Given the description of an element on the screen output the (x, y) to click on. 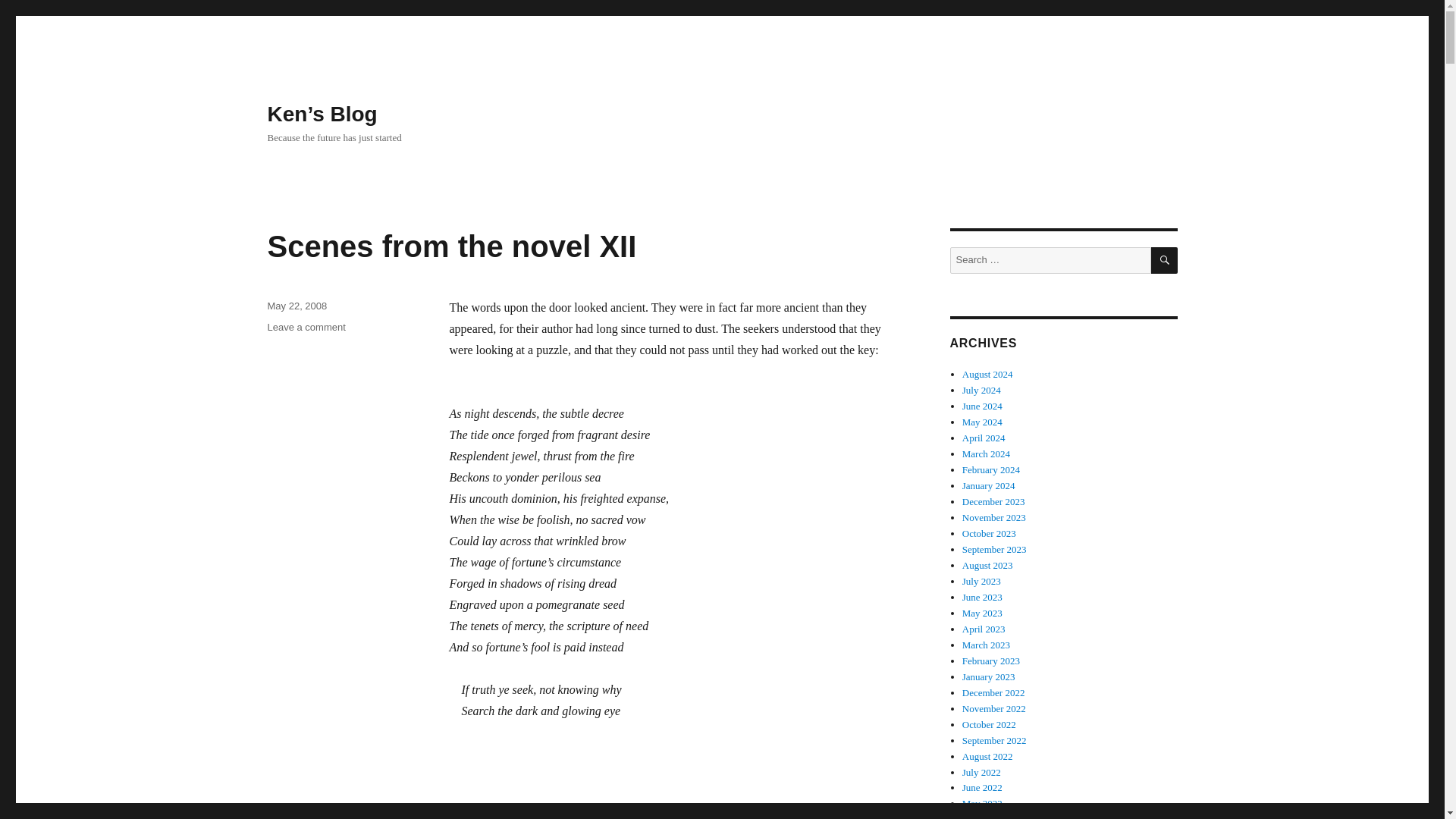
Mixed media (357, 813)
May 22, 2008 (296, 306)
Scenes from the novel XII (305, 326)
